Given the description of an element on the screen output the (x, y) to click on. 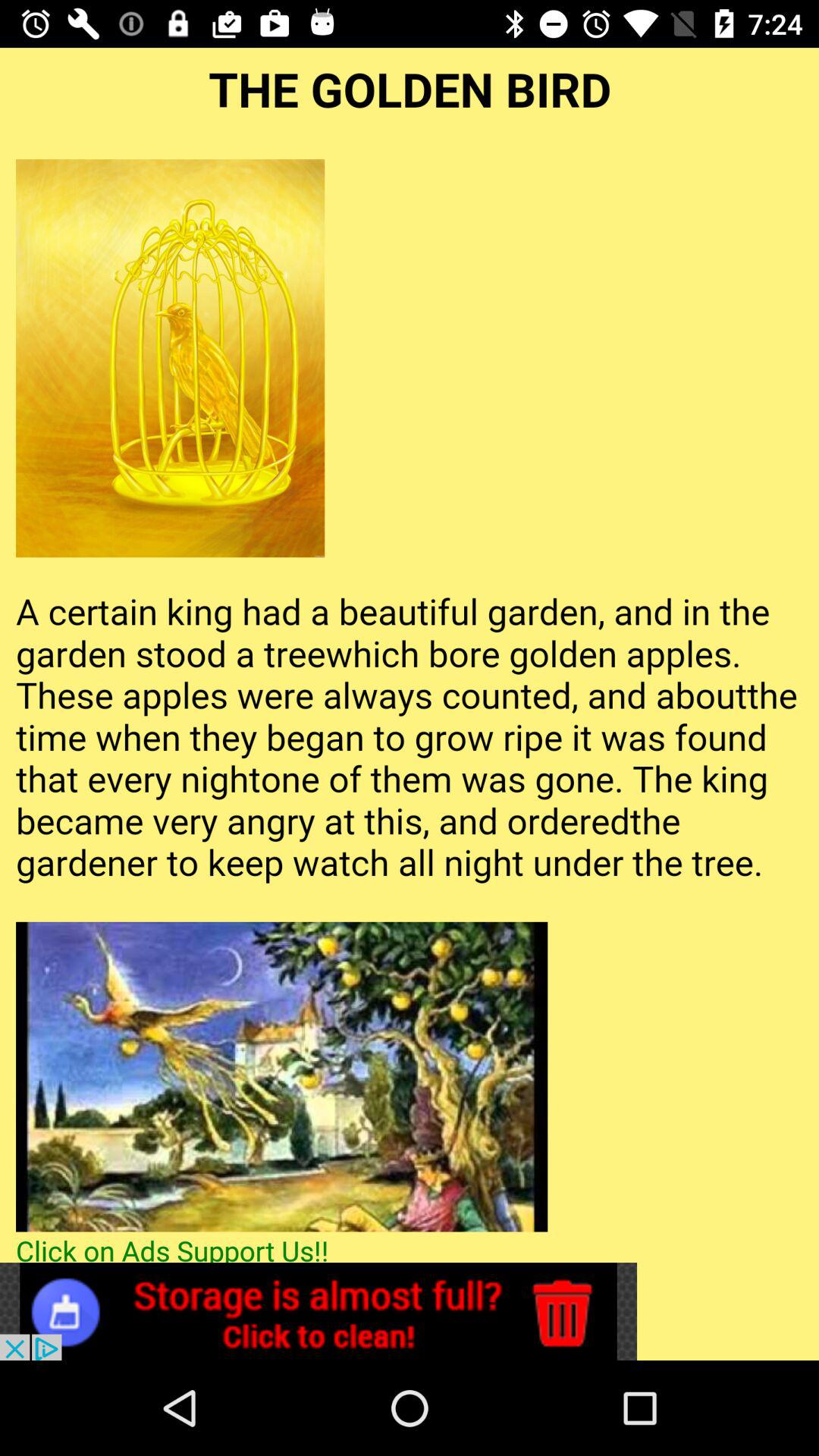
web add (318, 1311)
